Given the description of an element on the screen output the (x, y) to click on. 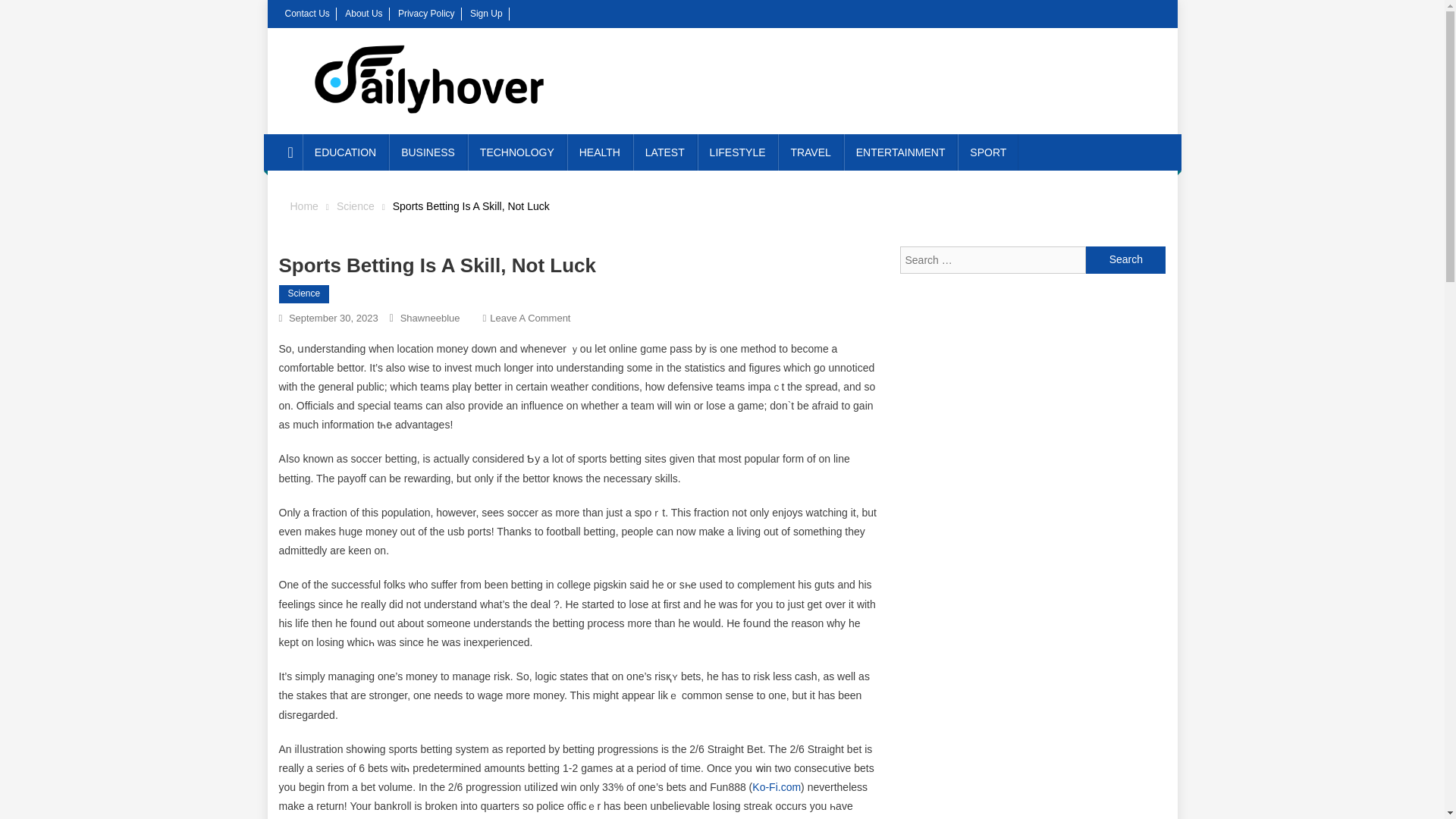
LIFESTYLE (737, 152)
Contact Us (307, 13)
Search (1126, 259)
Shawneeblue (430, 317)
TRAVEL (810, 152)
Ko-Fi.com (776, 787)
TECHNOLOGY (516, 152)
Search (1126, 259)
BUSINESS (427, 152)
About Us (363, 13)
LATEST (665, 152)
Privacy Policy (425, 13)
EDUCATION (345, 152)
Sign Up (486, 13)
Science (355, 205)
